Given the description of an element on the screen output the (x, y) to click on. 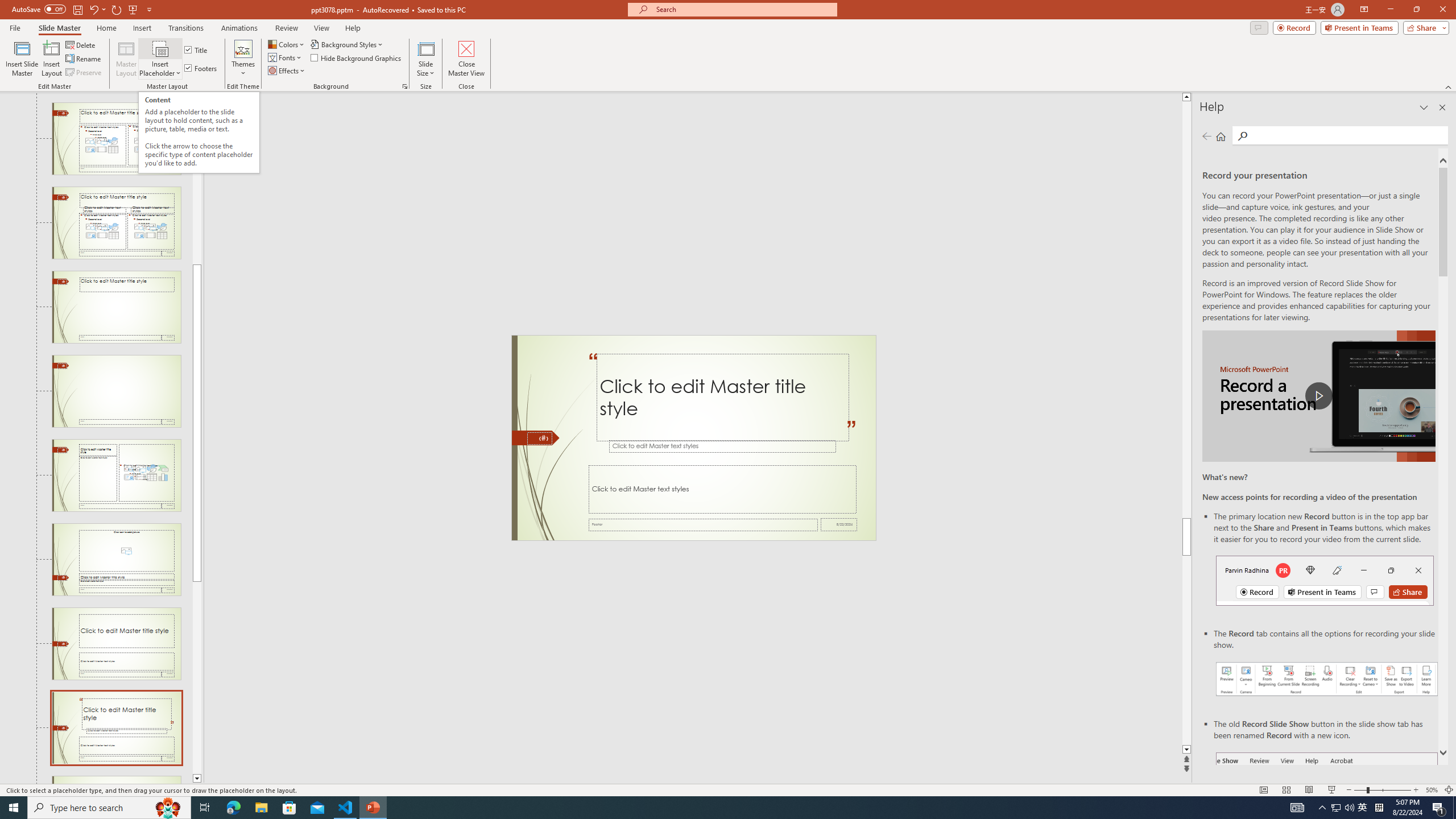
Previous page (1206, 136)
Master Layout... (126, 58)
TextBox 13 (593, 367)
Background Styles (347, 44)
Insert Slide Master (21, 58)
TextBox 14 (851, 434)
